Given the description of an element on the screen output the (x, y) to click on. 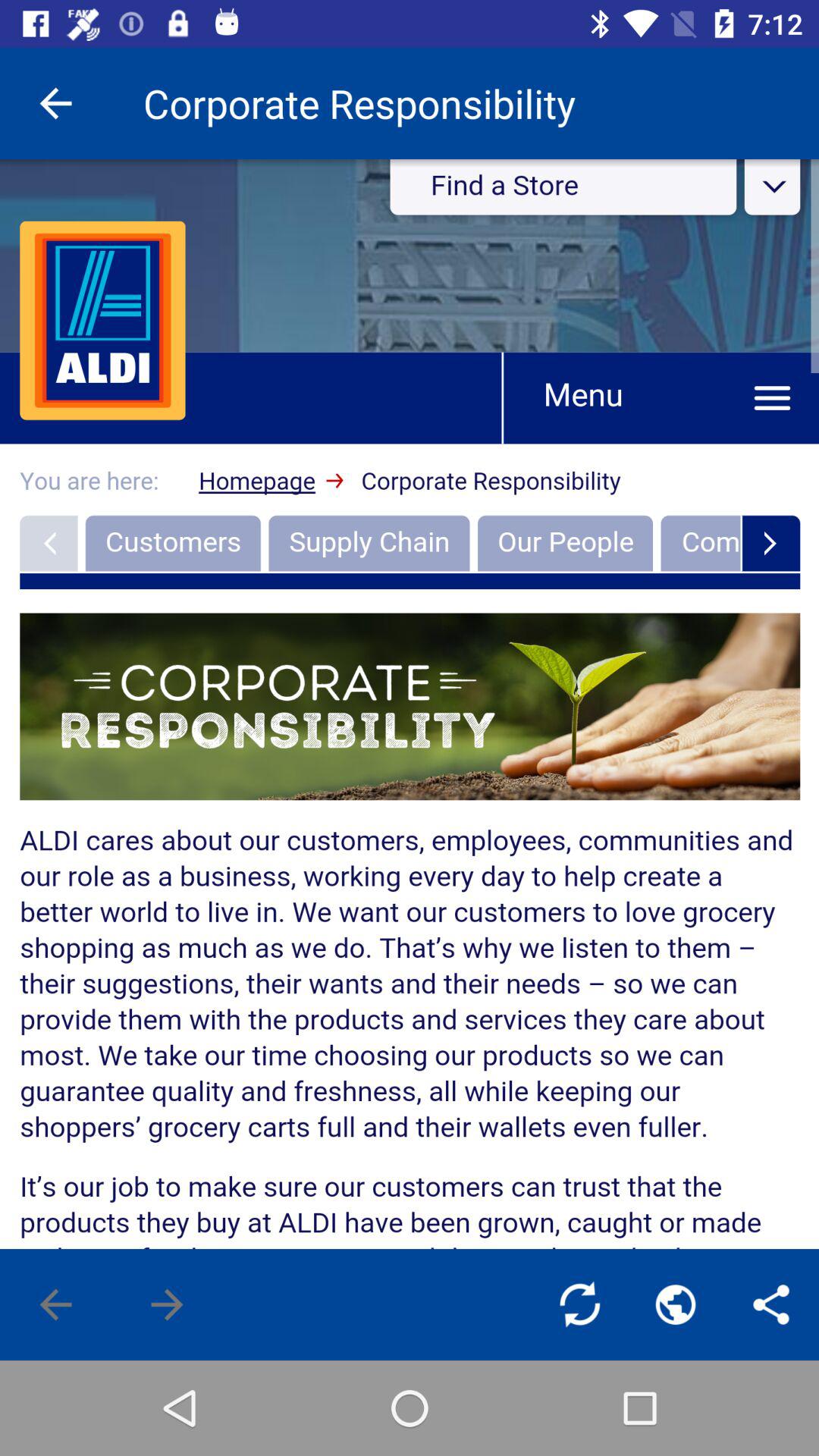
choose the item at the top left corner (55, 103)
